Given the description of an element on the screen output the (x, y) to click on. 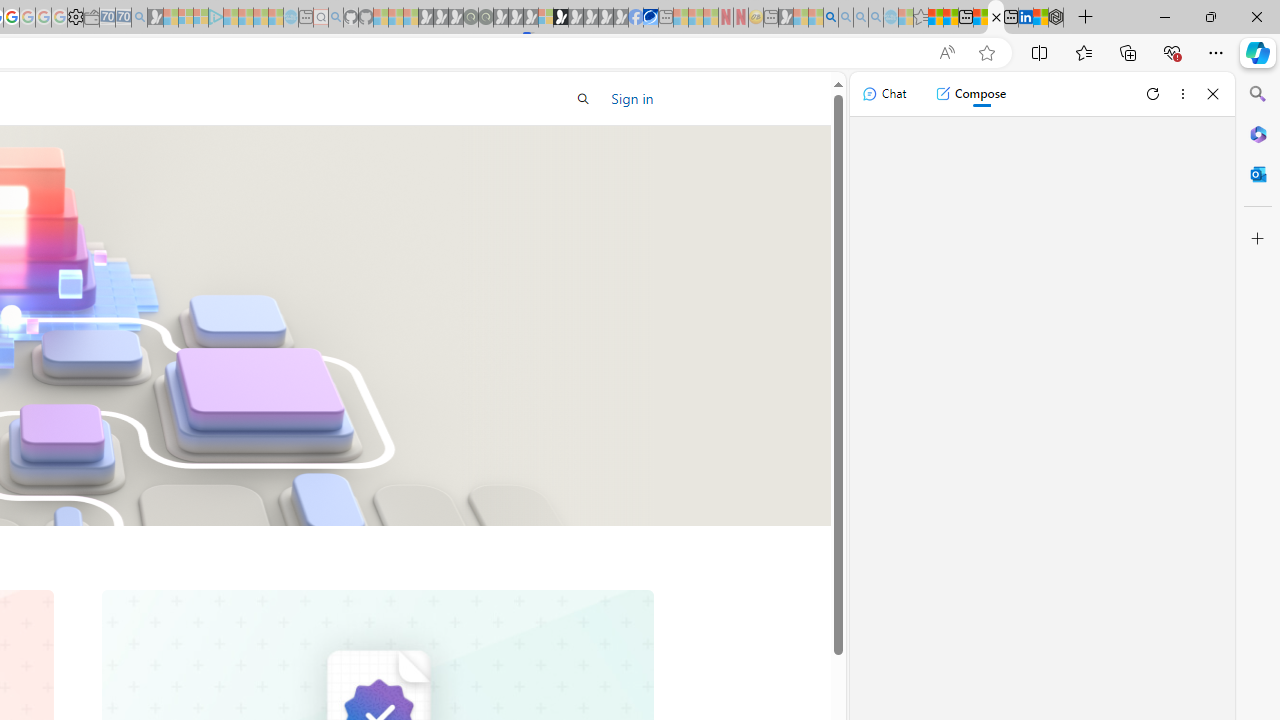
Microsoft Learn: Build skills that open doors in your career (996, 17)
Open search (583, 97)
AQI & Health | AirNow.gov (650, 17)
Future Focus Report 2024 - Sleeping (485, 17)
